Given the description of an element on the screen output the (x, y) to click on. 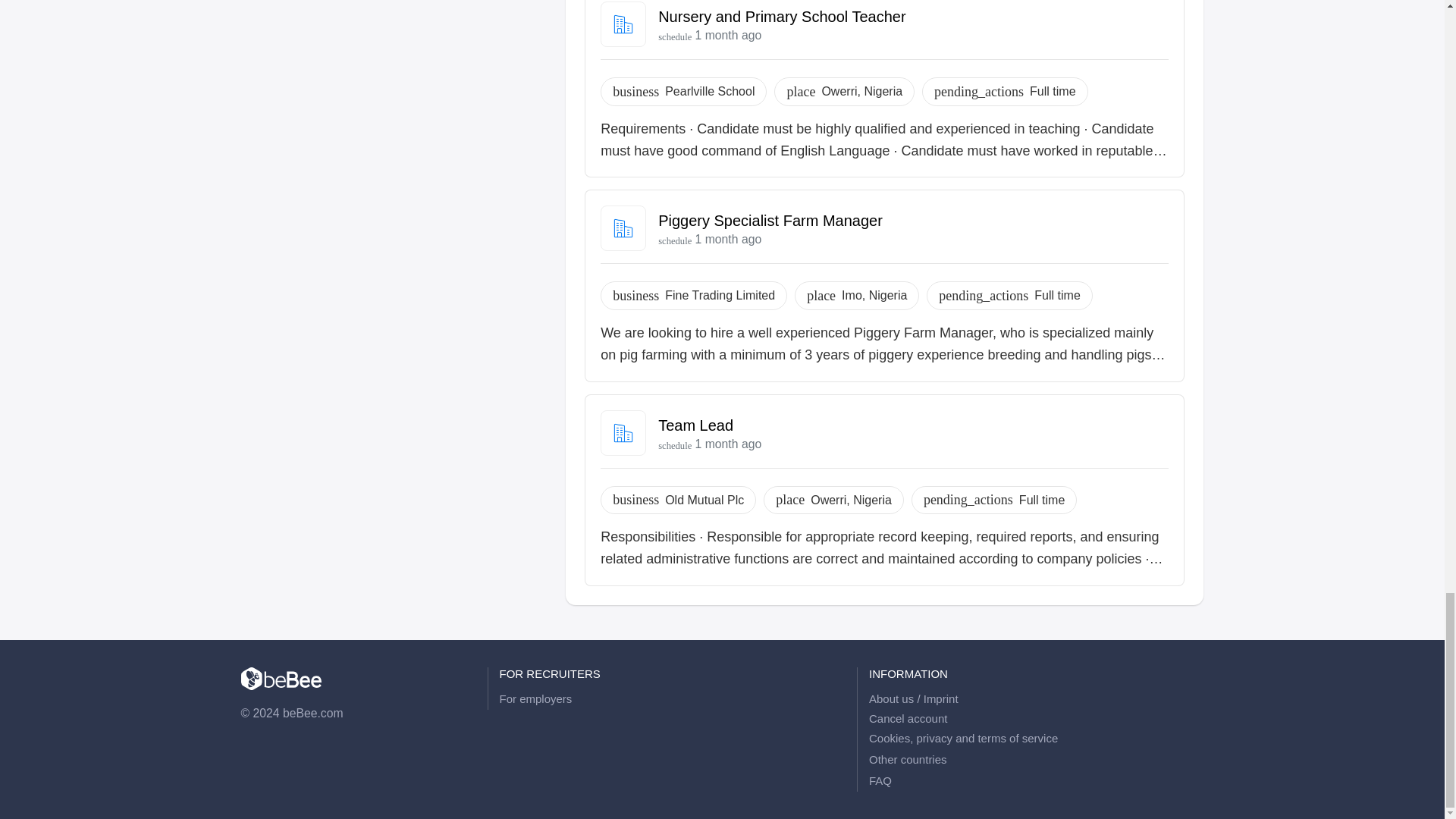
Nursery and Primary School Teacher (781, 16)
For employers (666, 699)
Piggery Specialist Farm Manager (770, 220)
Imo, Nigeria (874, 295)
Owerri, Nigeria (861, 91)
Nursery and Primary School Teacher (781, 16)
Owerri, Nigeria (850, 500)
Team Lead (695, 425)
Team Lead (695, 425)
Piggery Specialist Farm Manager (770, 220)
